Given the description of an element on the screen output the (x, y) to click on. 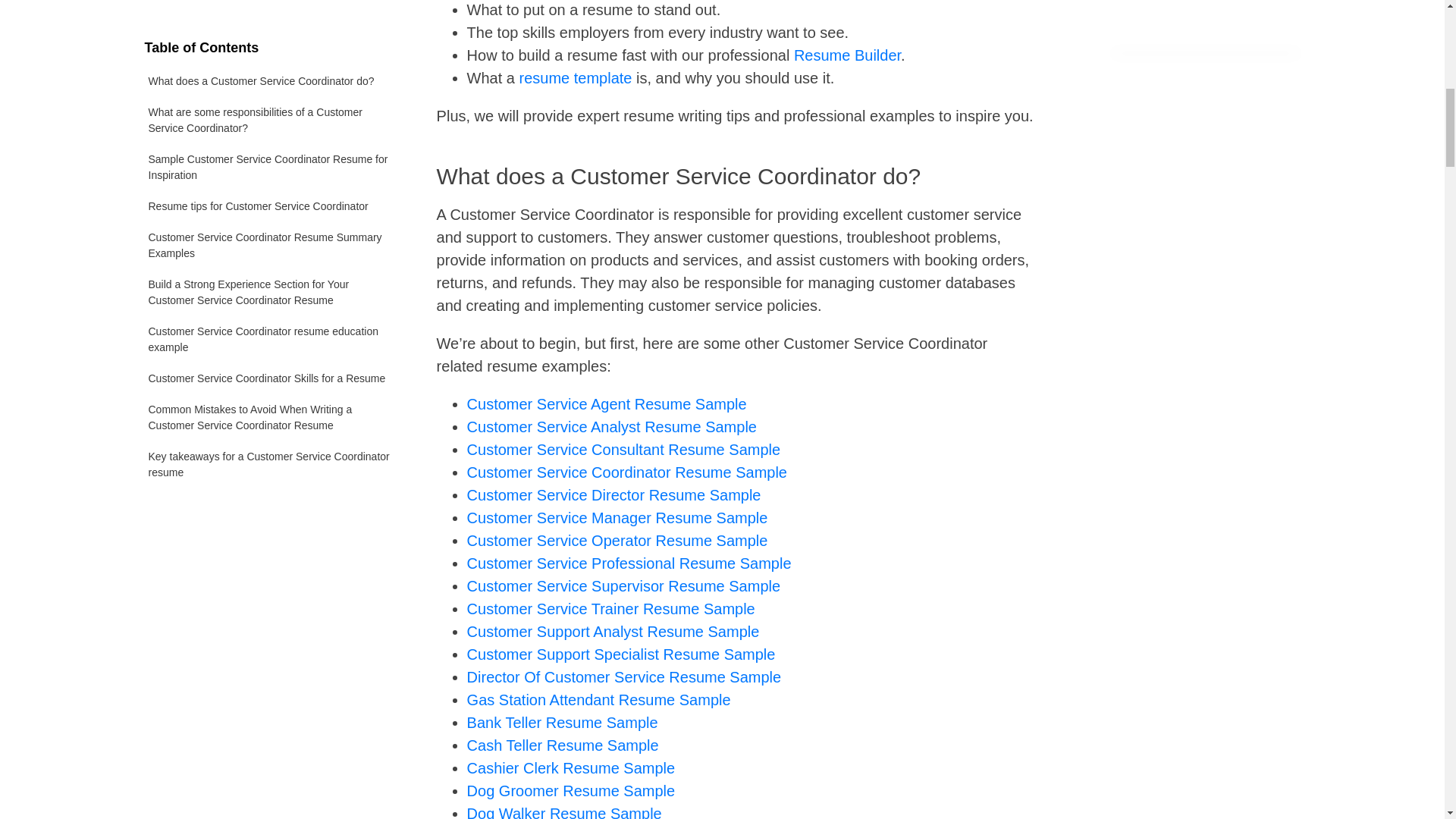
Customer Service Coordinator Resume Summary Examples (270, 20)
Customer Service Manager Resume Sample (617, 517)
Resume Builder (847, 54)
Customer Service Coordinator Skills for a Resume (270, 149)
Customer Service Analyst Resume Sample (612, 426)
resume template (575, 77)
Customer Service Coordinator Resume Sample (627, 472)
Customer Service Professional Resume Sample (629, 563)
Customer Service Operator Resume Sample (617, 540)
Customer Service Director Resume Sample (614, 494)
Customer Service Supervisor Resume Sample (623, 586)
Customer Service Consultant Resume Sample (623, 449)
Key takeaways for a Customer Service Coordinator resume (270, 235)
